Given the description of an element on the screen output the (x, y) to click on. 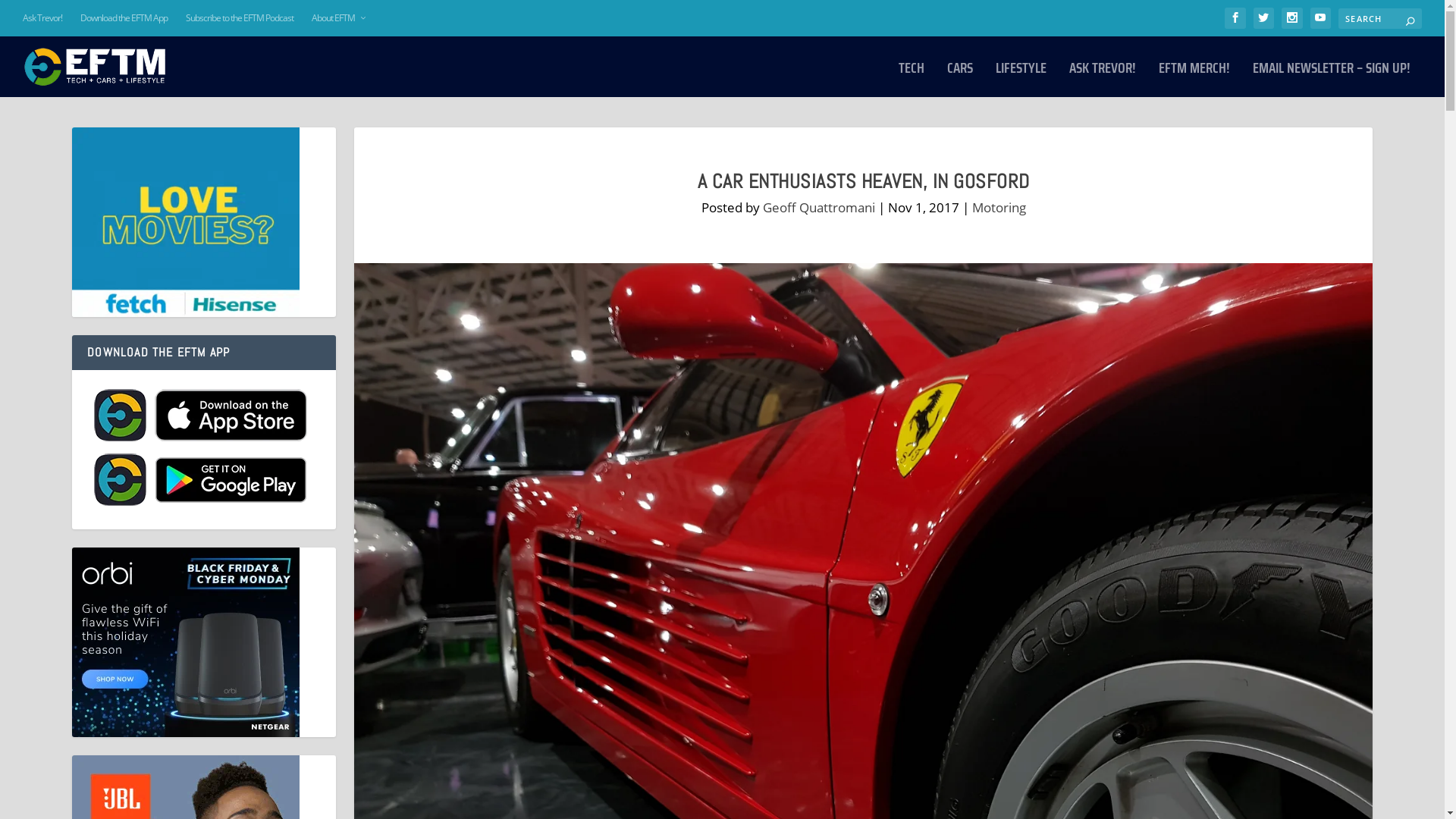
CARS Element type: text (959, 79)
LIFESTYLE Element type: text (1020, 79)
ASK TREVOR! Element type: text (1102, 79)
Search for: Element type: hover (1379, 18)
Subscribe to the EFTM Podcast Element type: text (239, 18)
TECH Element type: text (911, 79)
About EFTM Element type: text (339, 18)
Download the EFTM App Element type: text (123, 18)
Geoff Quattromani Element type: text (818, 207)
EFTM MERCH! Element type: text (1194, 79)
Ask Trevor! Element type: text (42, 18)
Motoring Element type: text (999, 207)
